Given the description of an element on the screen output the (x, y) to click on. 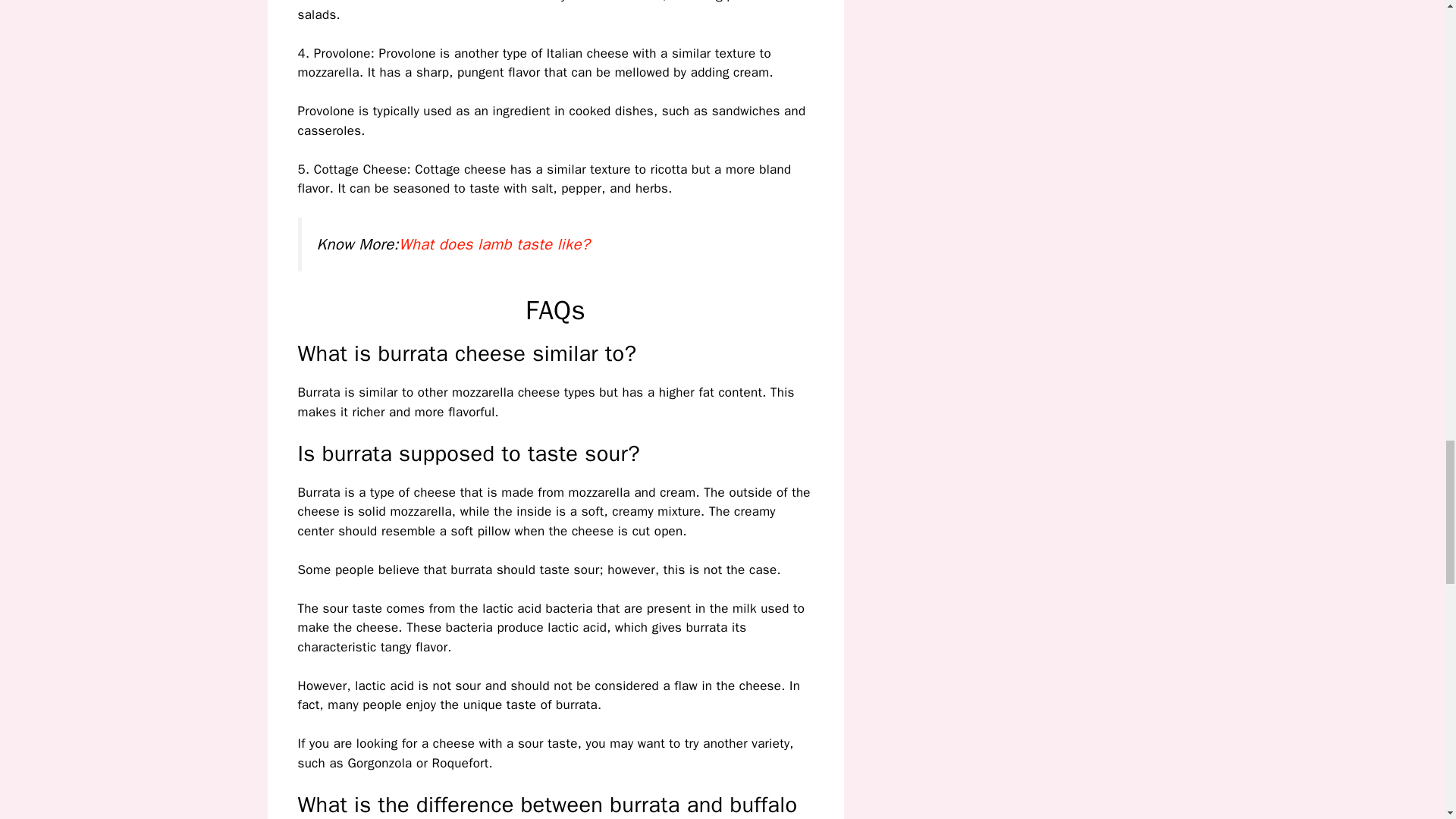
What does lamb taste like? (493, 243)
